Given the description of an element on the screen output the (x, y) to click on. 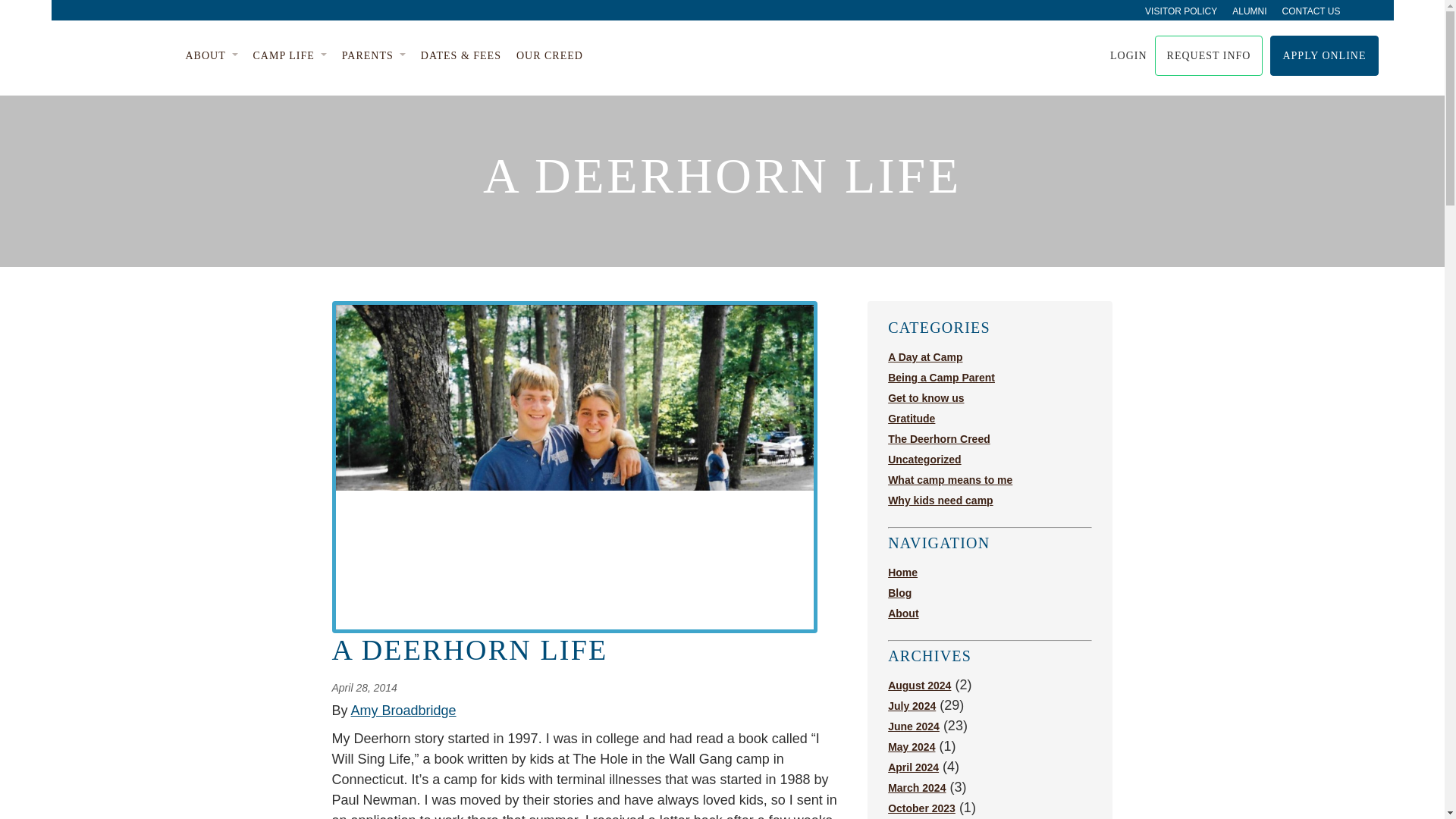
Deerhorn (118, 55)
CAMP LIFE (289, 56)
VISITOR POLICY (1180, 10)
PARENTS (374, 56)
APPLY ONLINE (1323, 56)
ABOUT (210, 56)
OUR CREED (549, 56)
ALUMNI (1248, 10)
REQUEST INFO (1208, 56)
LOGIN (1118, 55)
